Given the description of an element on the screen output the (x, y) to click on. 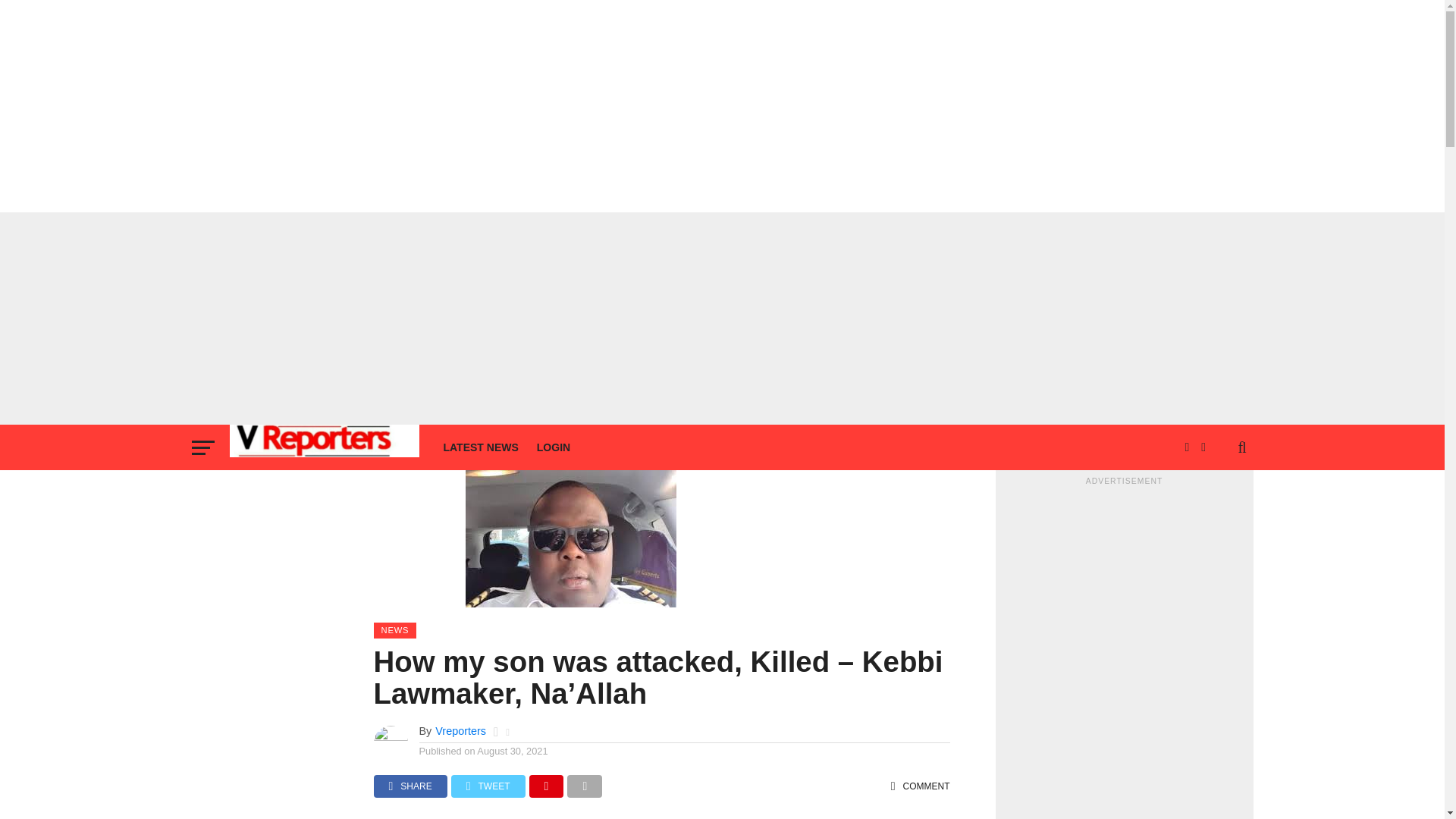
LOGIN (553, 447)
Vreporters (460, 730)
Posts by Vreporters (460, 730)
LATEST NEWS (480, 447)
